Given the description of an element on the screen output the (x, y) to click on. 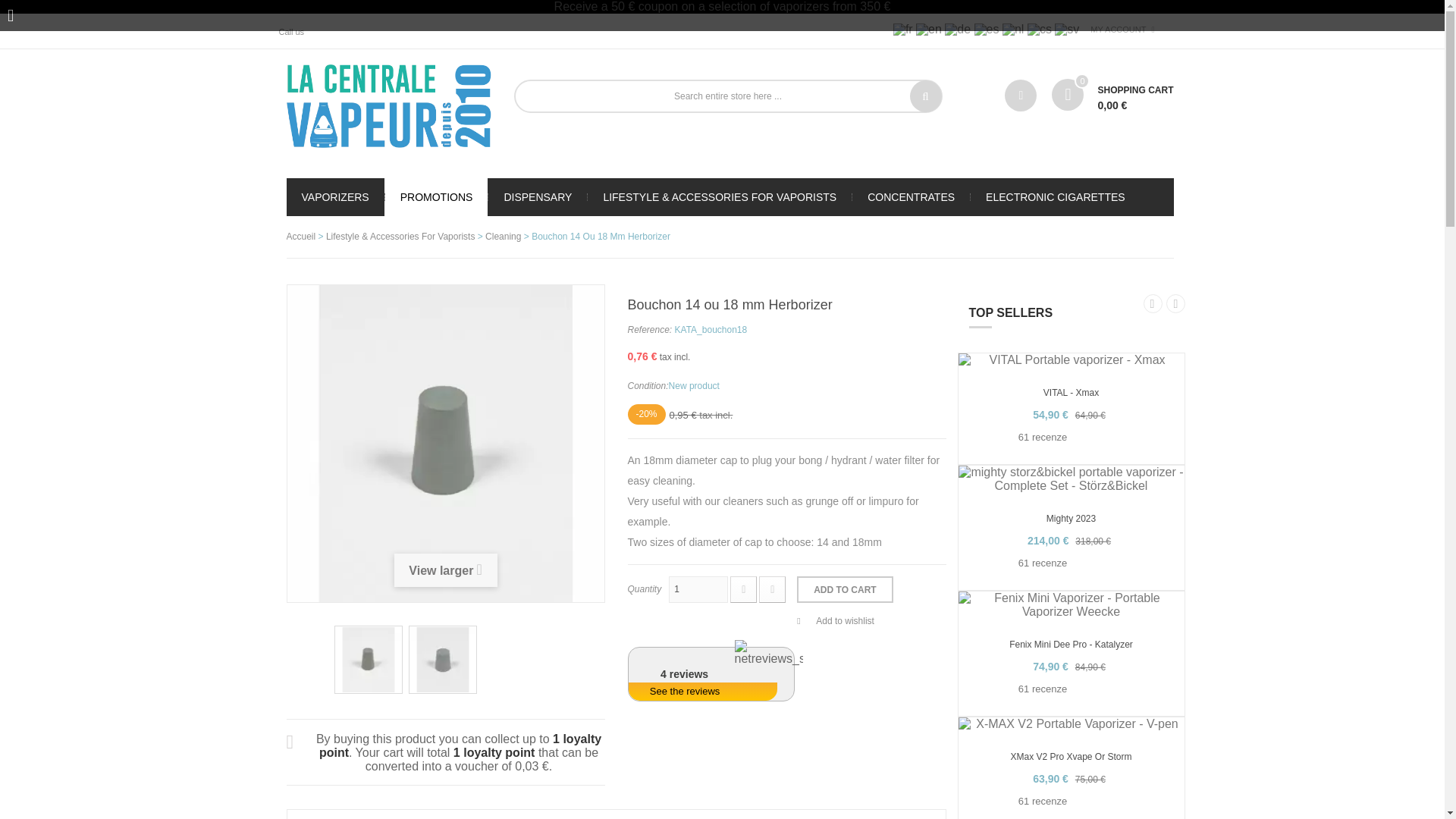
View my shopping cart (1112, 96)
Call us (297, 30)
My wishlist (1020, 95)
La Centrale Vapeur (389, 106)
1 (698, 589)
Search (926, 96)
